Given the description of an element on the screen output the (x, y) to click on. 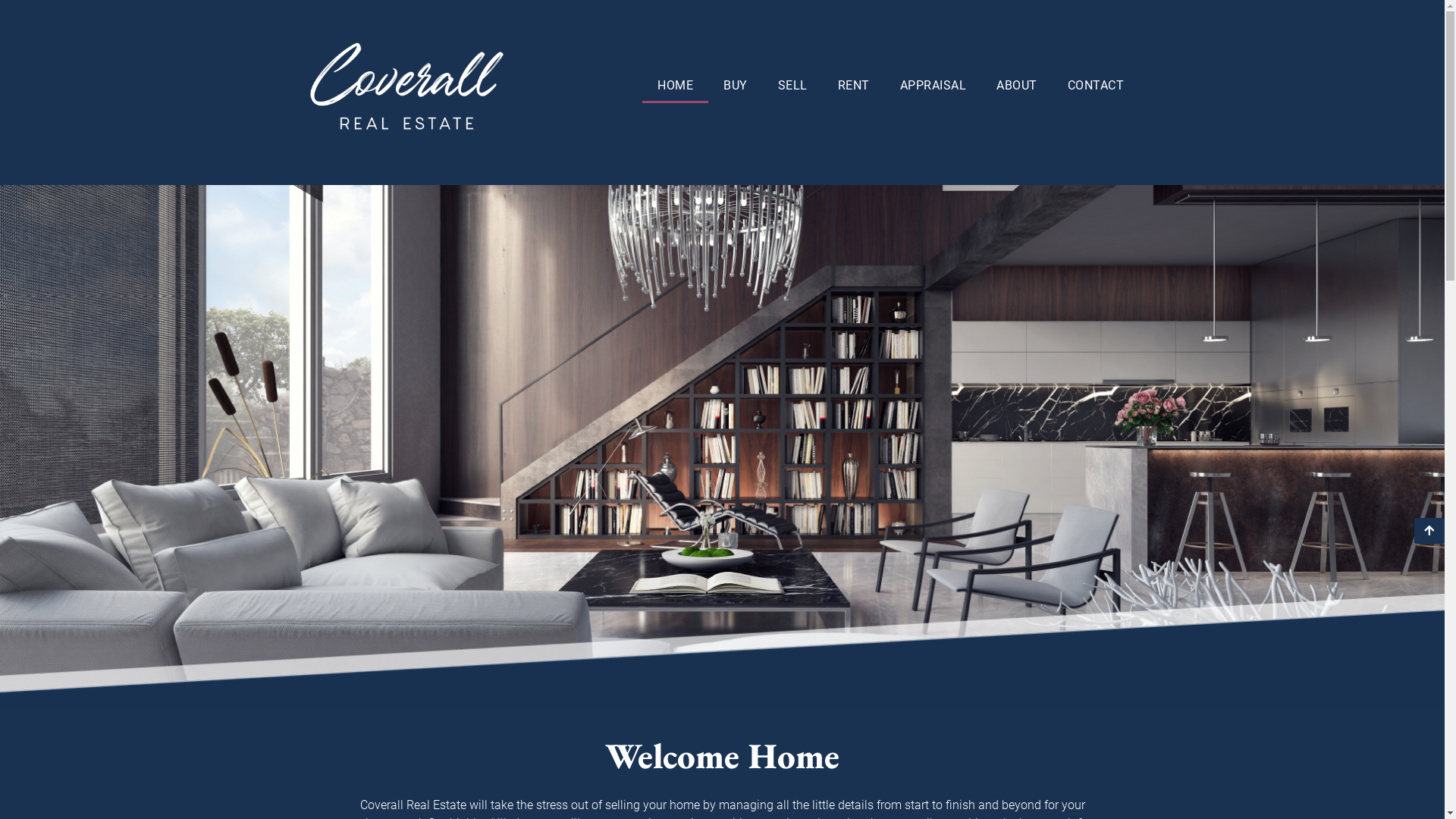
HOME Element type: text (675, 85)
BUY Element type: text (735, 85)
APPRAISAL Element type: text (933, 85)
CONTACT Element type: text (1095, 85)
RENT Element type: text (853, 85)
ABOUT Element type: text (1016, 85)
SELL Element type: text (792, 85)
